Given the description of an element on the screen output the (x, y) to click on. 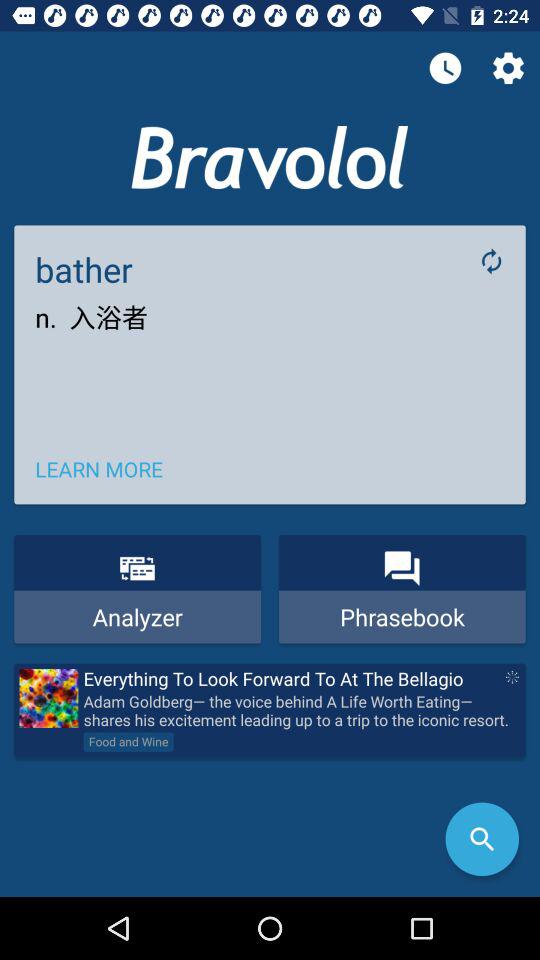
search (482, 839)
